Given the description of an element on the screen output the (x, y) to click on. 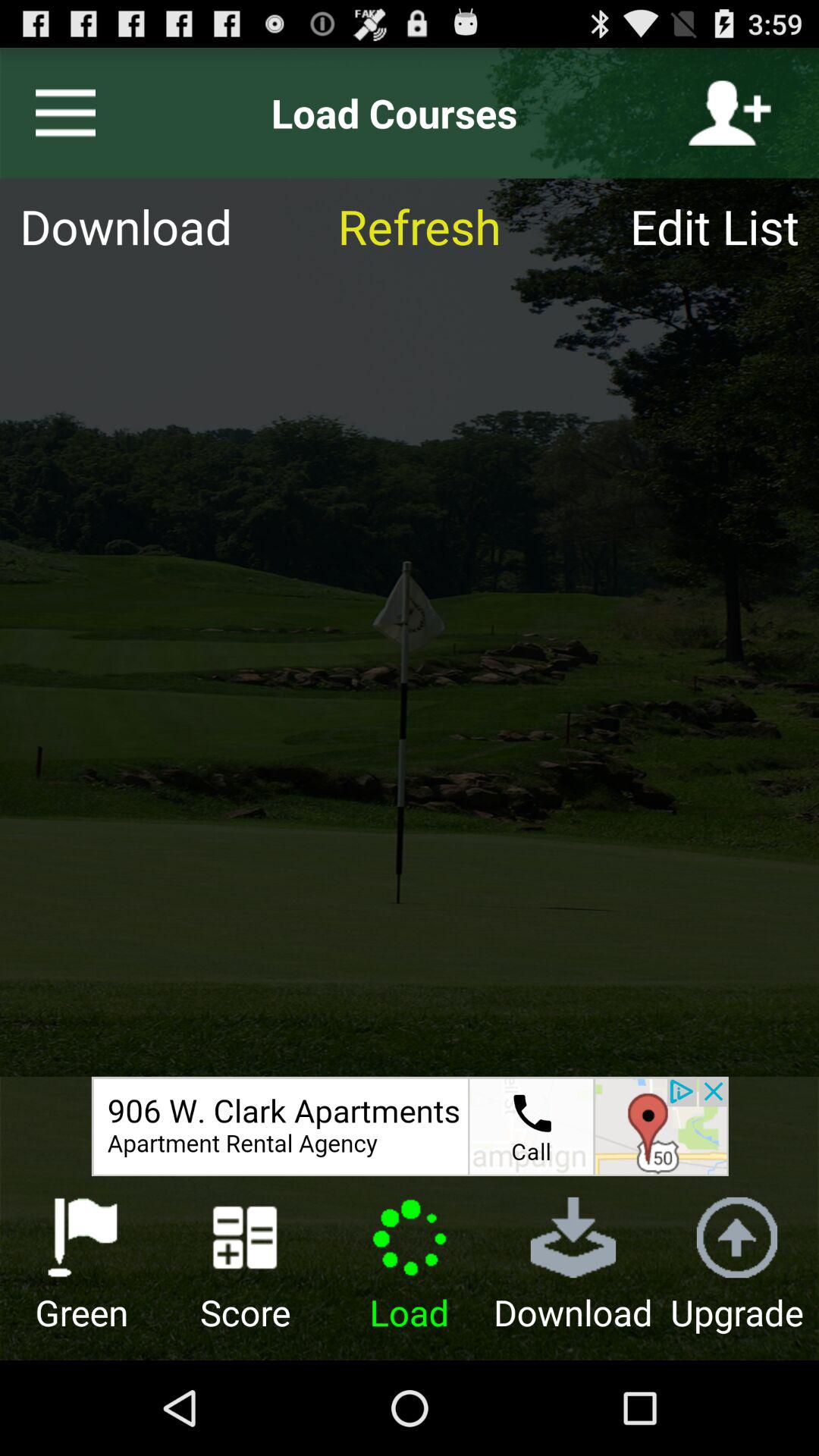
advertisement (409, 1126)
